Given the description of an element on the screen output the (x, y) to click on. 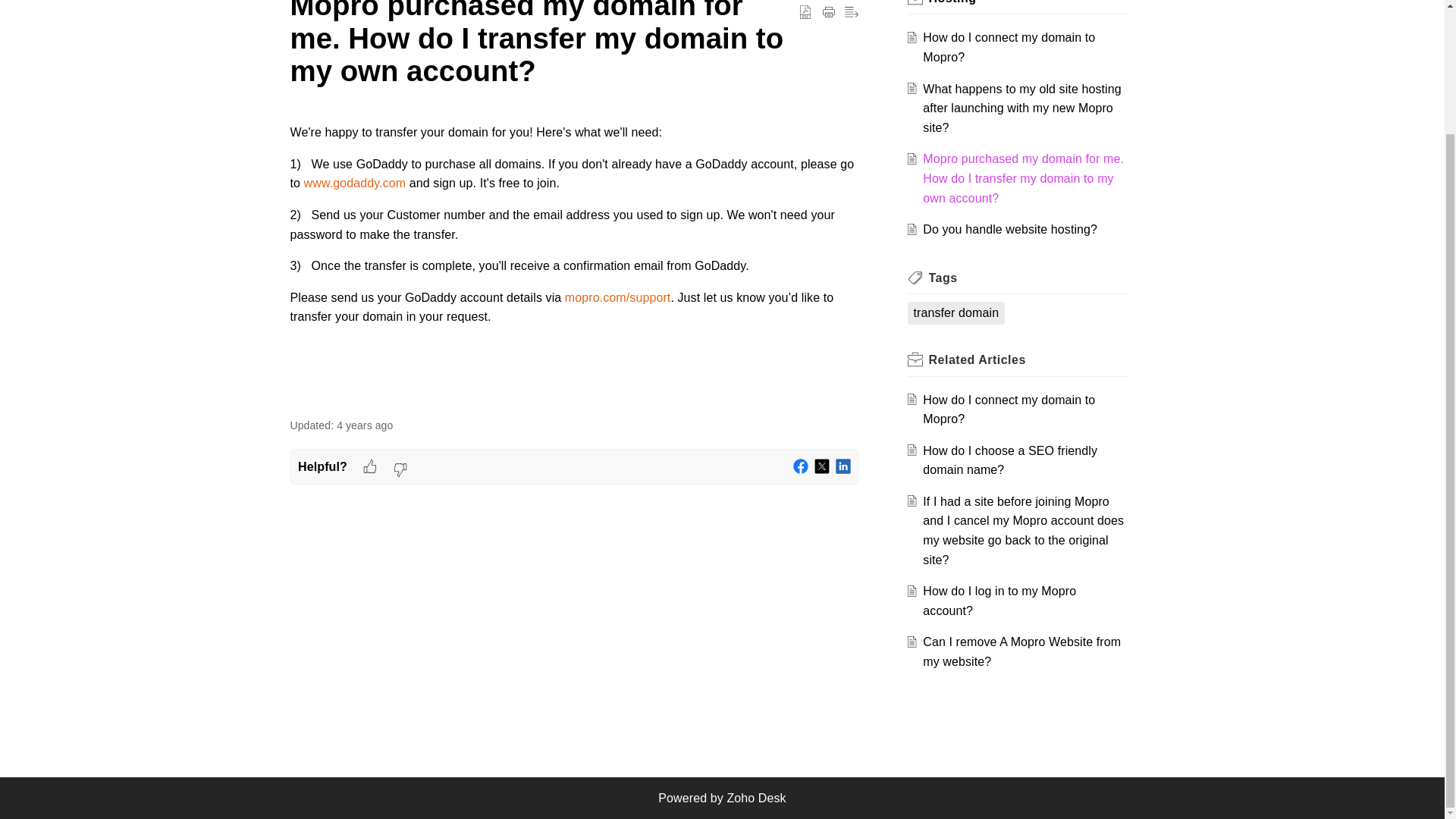
How do I connect my domain to Mopro? (1008, 47)
17 Jan 2020 08:19 AM (364, 425)
How do I connect my domain to Mopro? (1008, 409)
Hosting (951, 2)
Can I remove A Mopro Website from my website? (1022, 651)
LinkedIn (842, 466)
How do I log in to my Mopro account? (999, 600)
Do you handle website hosting? (1010, 228)
transfer domain (955, 312)
Twitter (821, 466)
Do you handle website hosting? (1010, 228)
